Given the description of an element on the screen output the (x, y) to click on. 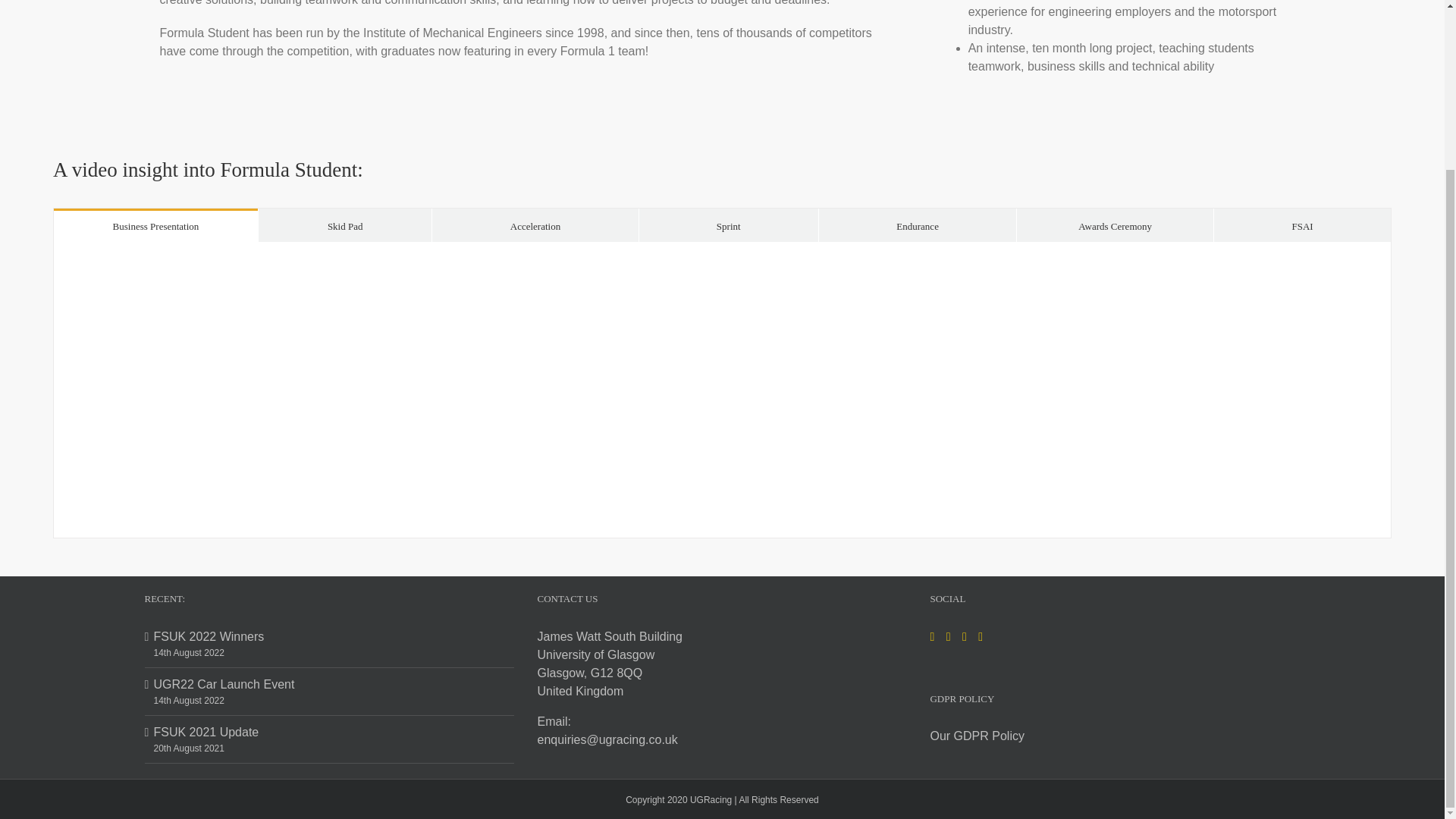
Endurance (917, 225)
UGR22 Car Launch Event (329, 684)
Sprint (728, 225)
YouTube video player 1 (722, 389)
Acceleration (534, 225)
FSUK 2022 Winners (329, 637)
Skid Pad (345, 225)
FSAI (1302, 225)
Awards Ceremony (1114, 225)
Business Presentation (155, 225)
